Given the description of an element on the screen output the (x, y) to click on. 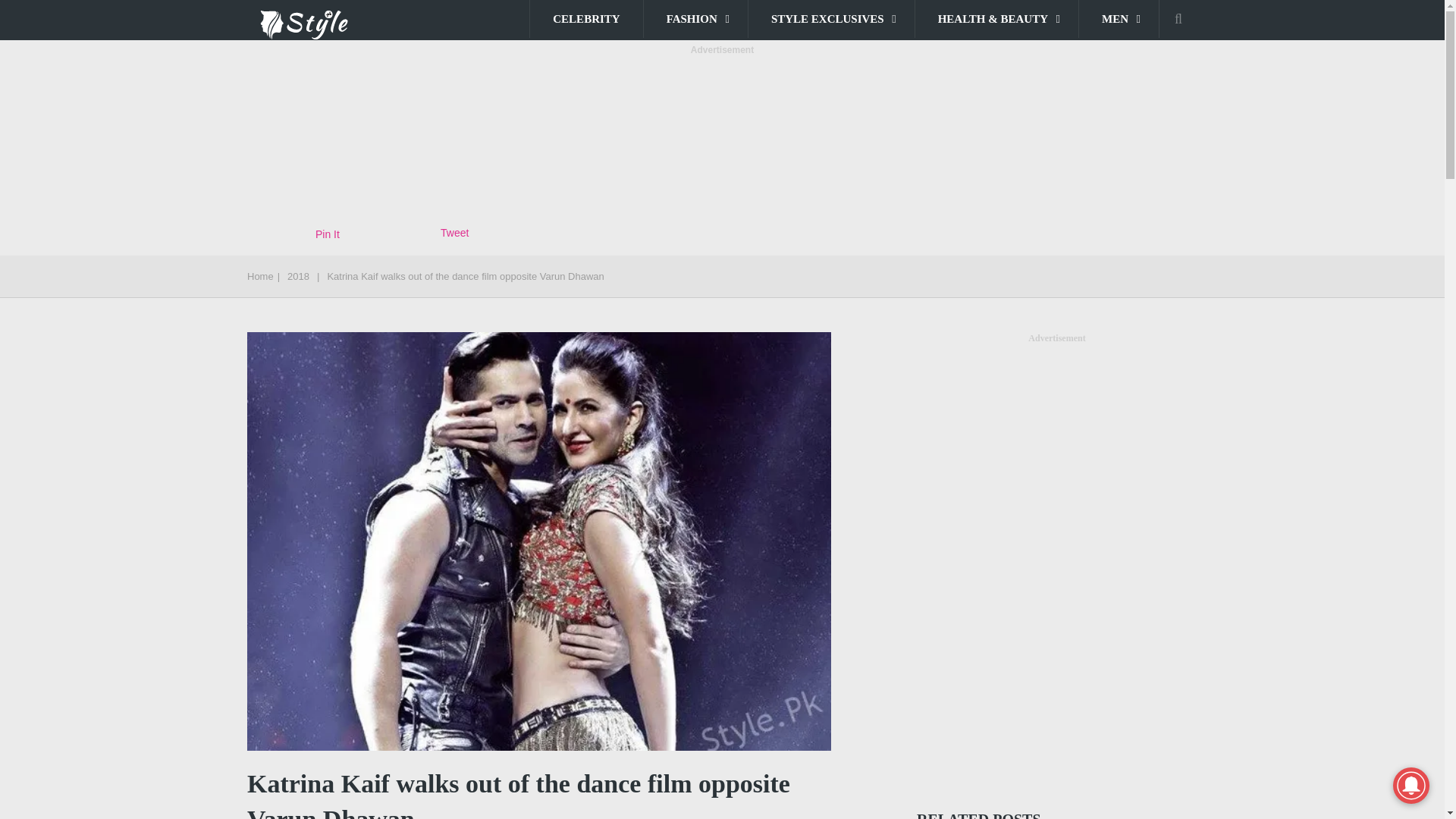
FASHION (695, 18)
STYLE EXCLUSIVES (831, 18)
MEN (1118, 18)
CELEBRITY (585, 18)
